Given the description of an element on the screen output the (x, y) to click on. 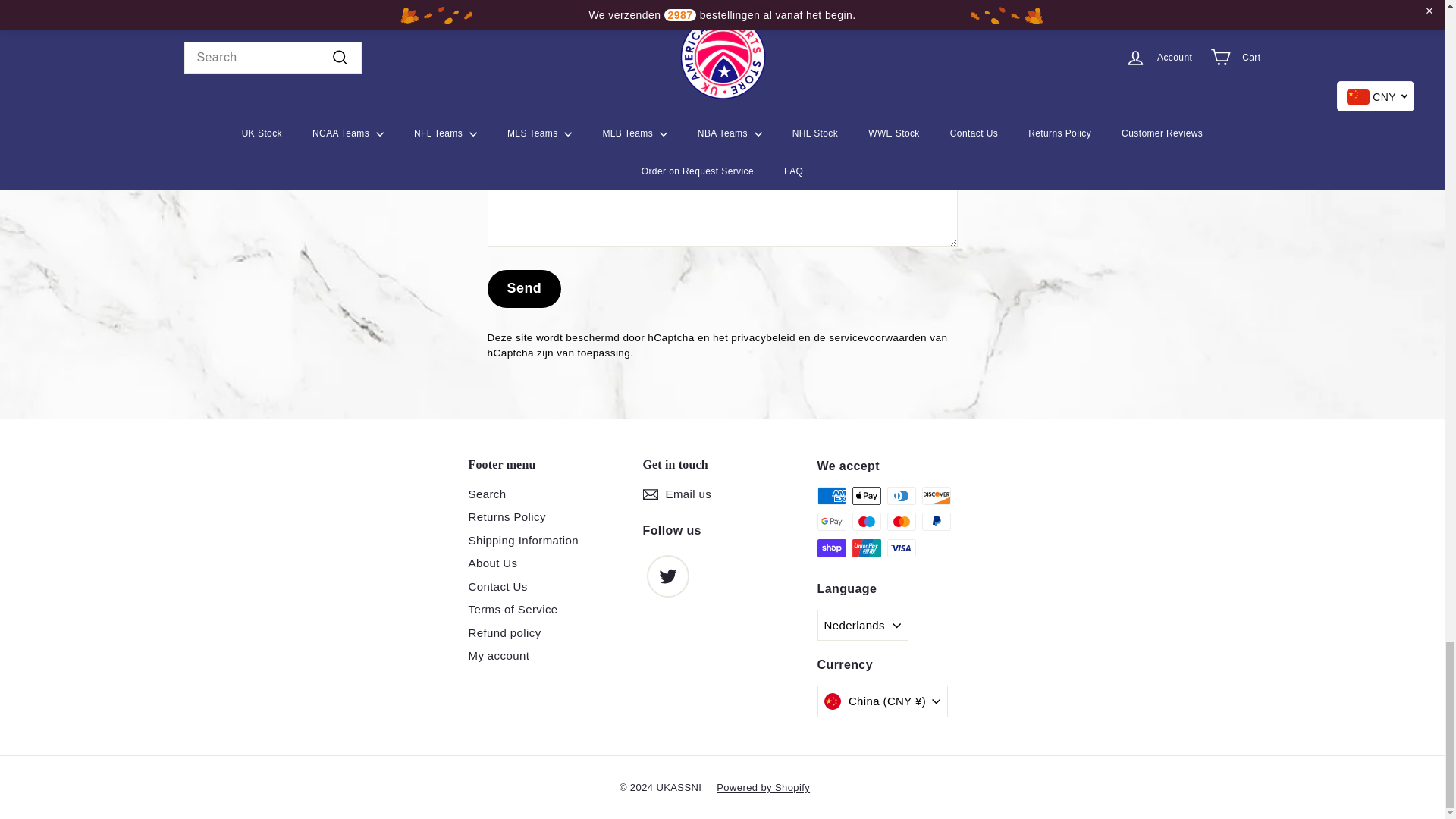
UKASSNI on Twitter (667, 576)
